Given the description of an element on the screen output the (x, y) to click on. 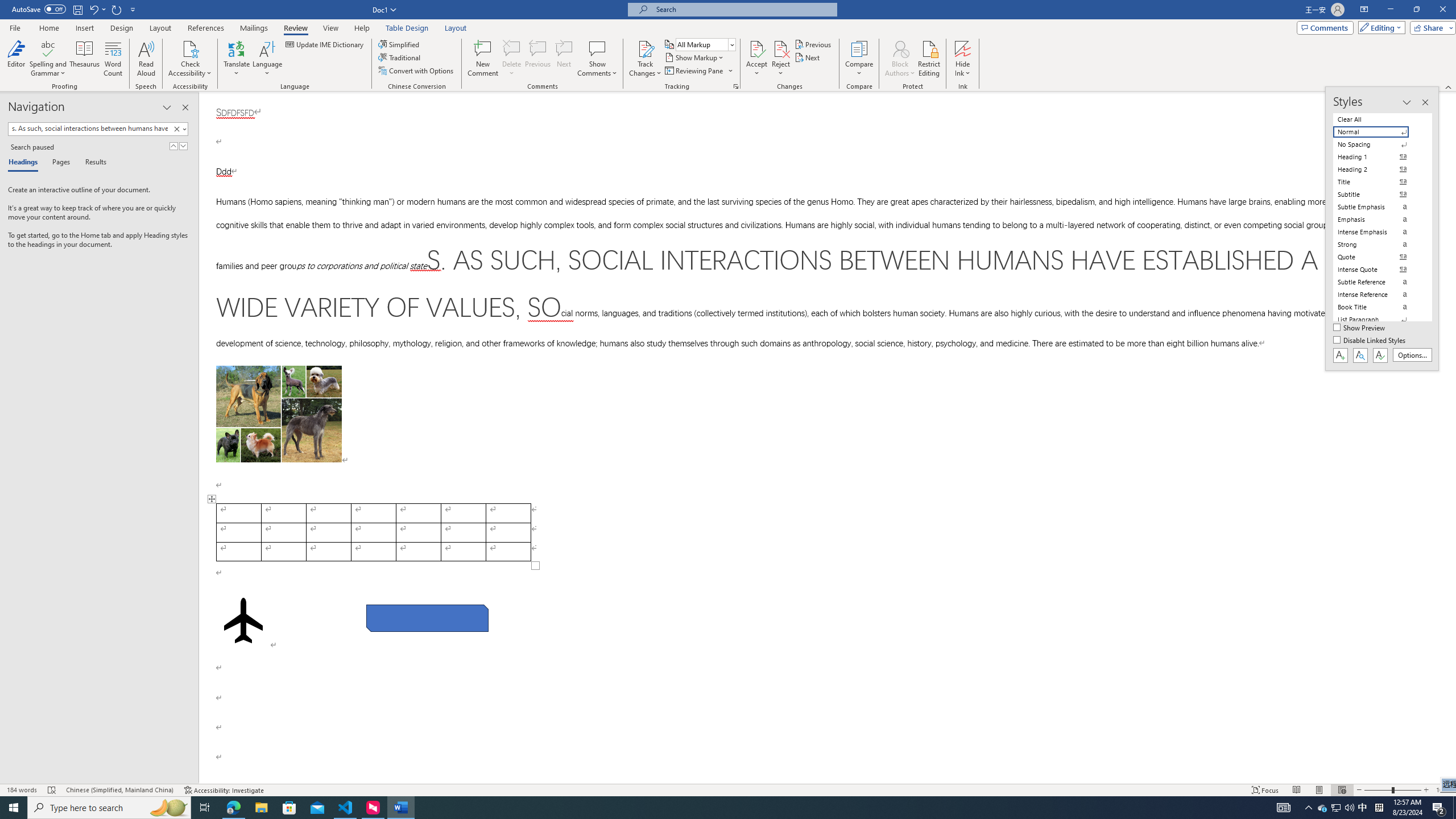
Undo Style (92, 9)
Reviewing Pane (698, 69)
Show Comments (597, 48)
Show Comments (597, 58)
Check Accessibility (189, 58)
Traditional (400, 56)
Track Changes (644, 48)
Hide Ink (962, 58)
Disable Linked Styles (1370, 340)
